Given the description of an element on the screen output the (x, y) to click on. 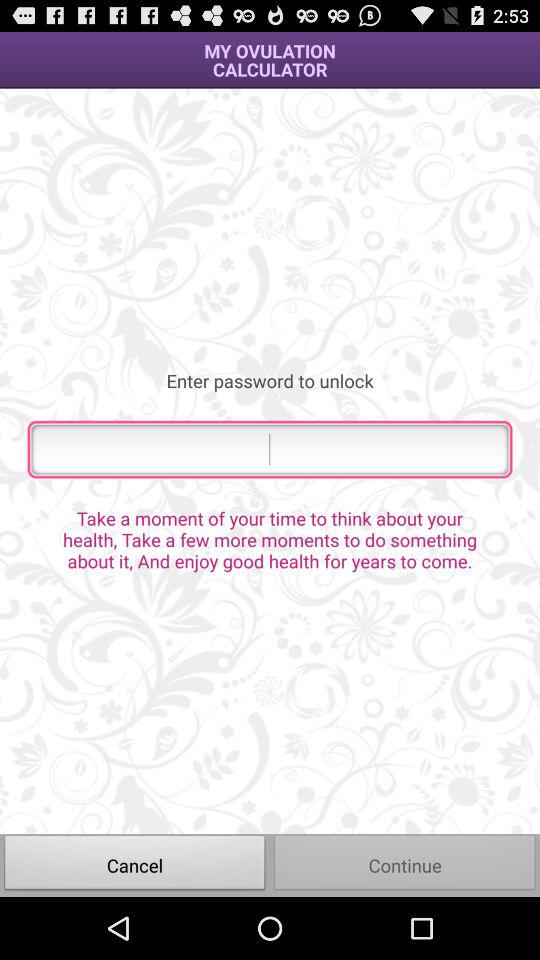
jump to the take a moment (270, 539)
